Given the description of an element on the screen output the (x, y) to click on. 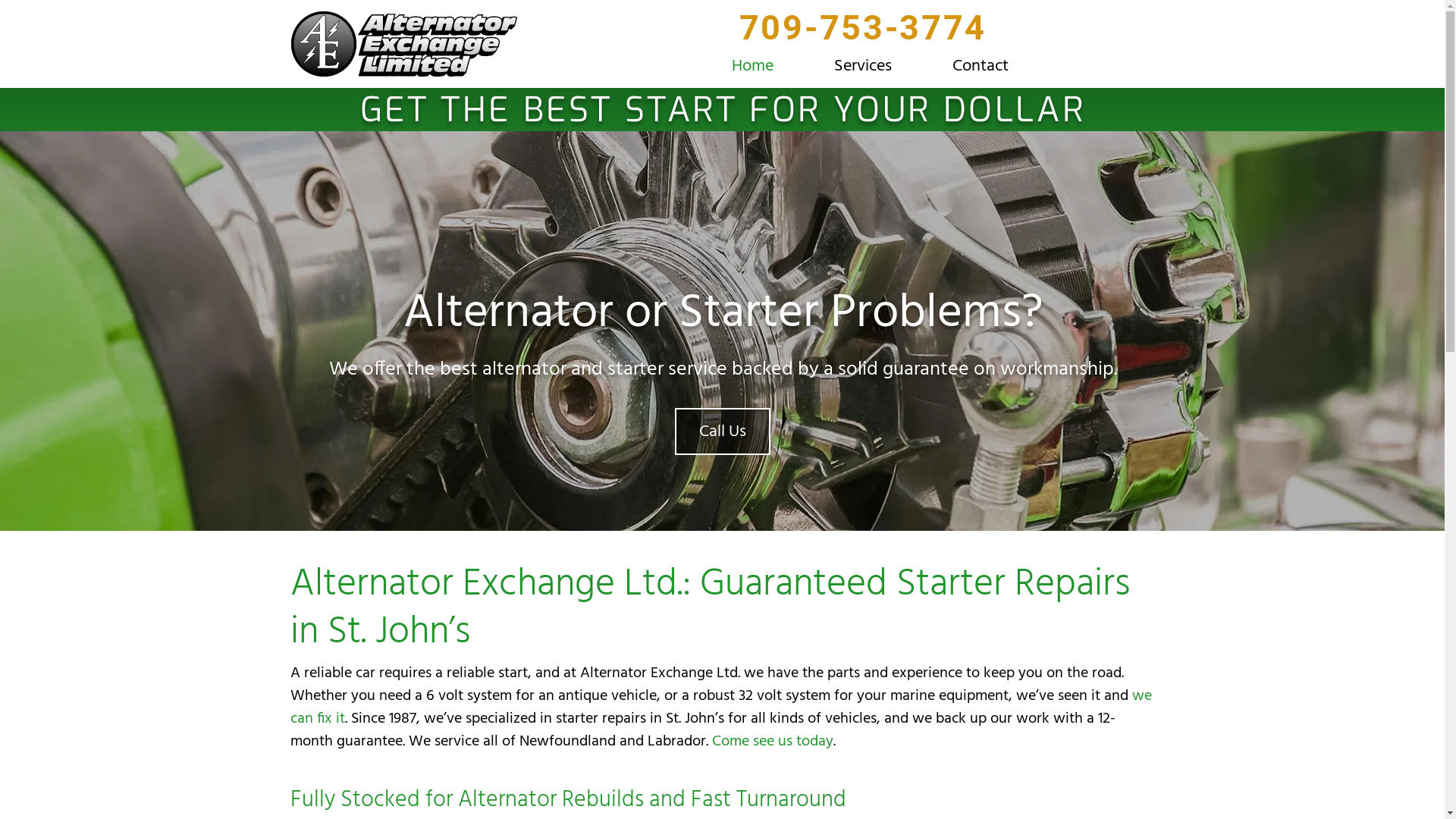
Services Element type: text (862, 62)
we can fix it Element type: text (720, 705)
Come see us today Element type: text (771, 739)
Home Element type: text (751, 62)
Call Us Element type: text (722, 431)
709-753-3774 Element type: text (862, 36)
Contact Element type: text (980, 62)
